Given the description of an element on the screen output the (x, y) to click on. 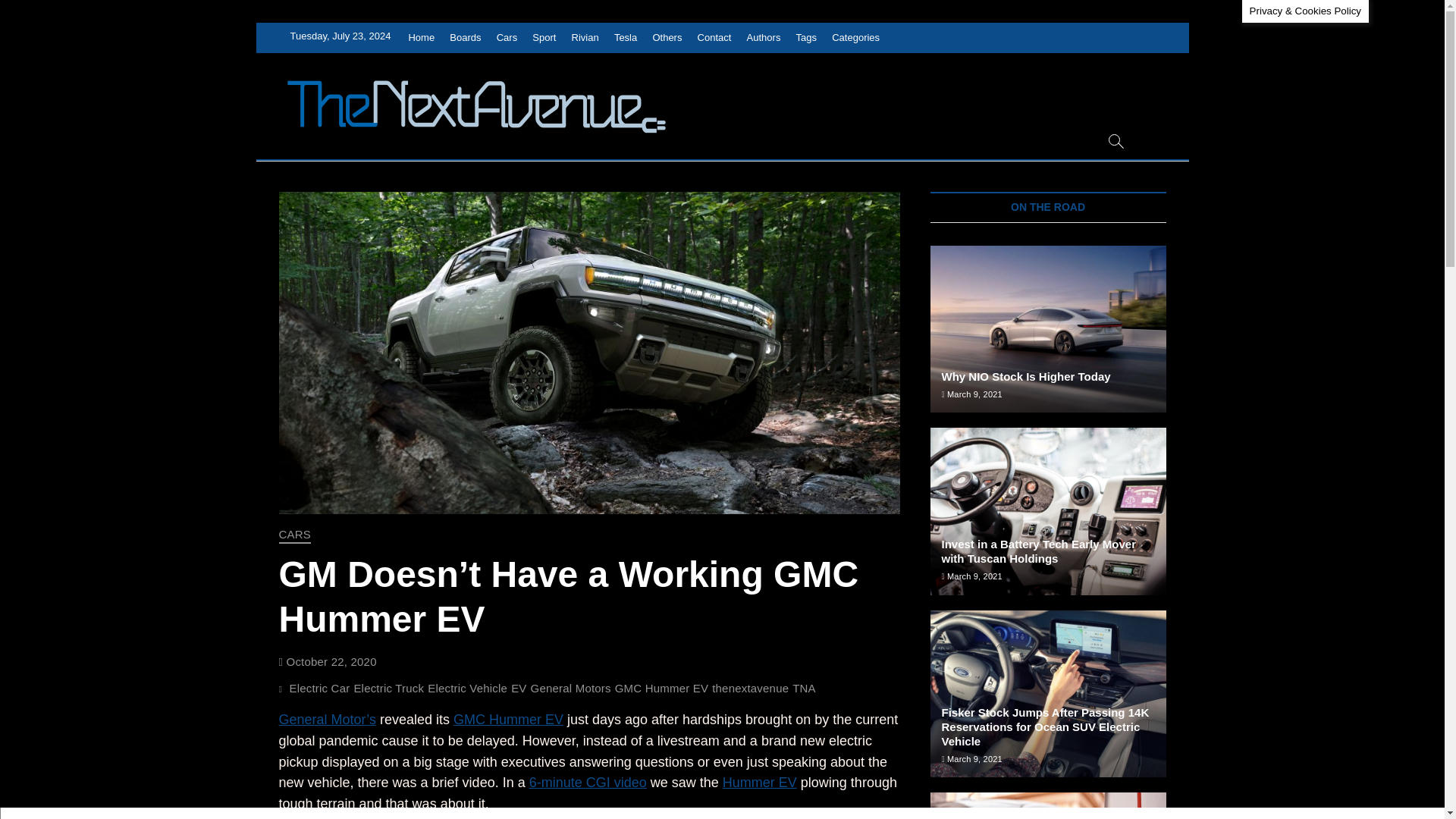
Home (421, 37)
Cars (506, 37)
Invest in a Battery Tech Early Mover with Tuscan Holdings (1048, 510)
Contact (714, 37)
GMC Hummer EV (507, 719)
CARS (295, 535)
General Motors (572, 689)
Rivian (585, 37)
Hummer EV (759, 782)
Others (666, 37)
Why NIO Stock Is Higher Today (1026, 376)
TNA (805, 689)
Electric Car (320, 689)
EV (520, 689)
Tags (806, 37)
